Given the description of an element on the screen output the (x, y) to click on. 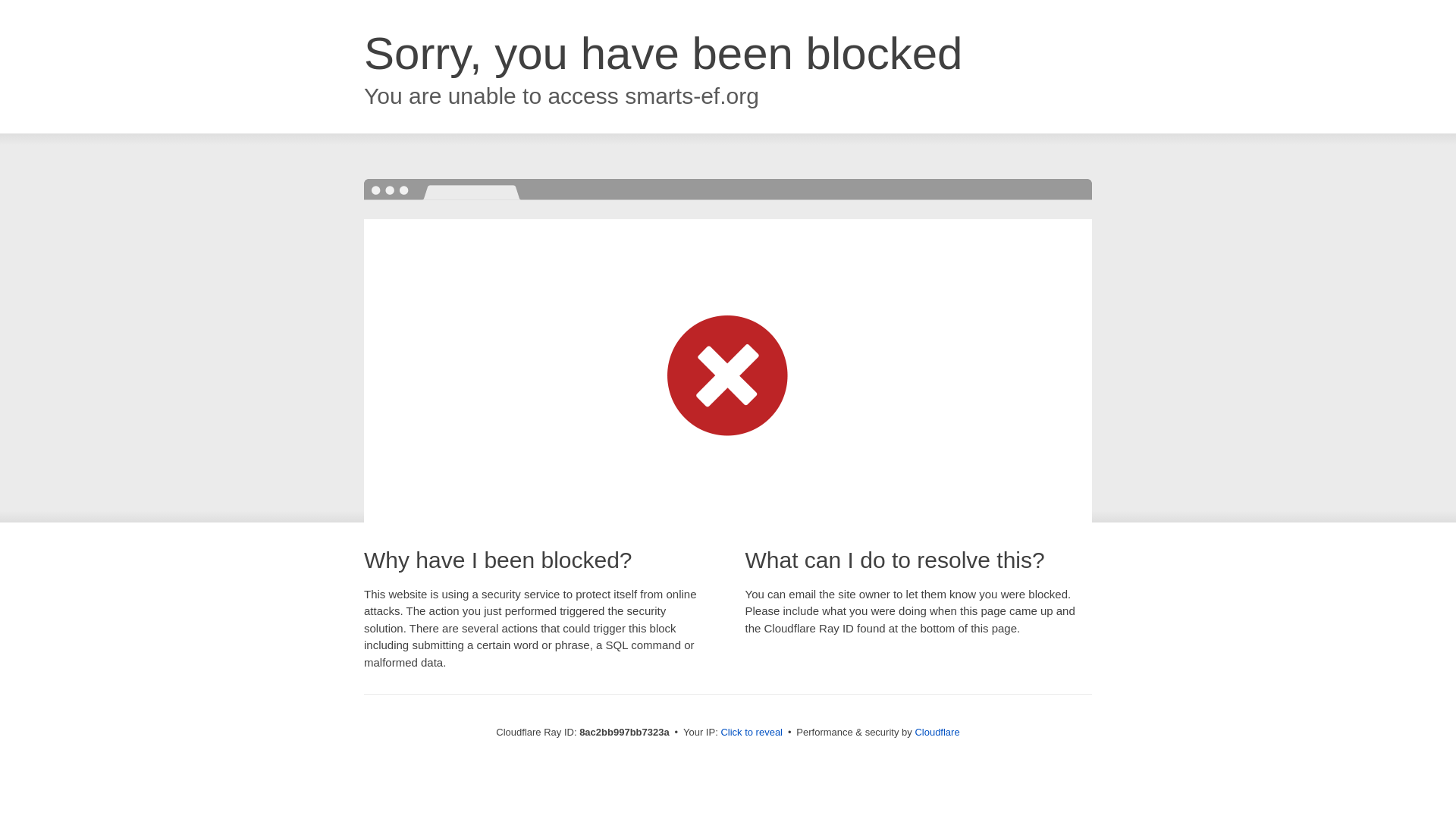
Click to reveal (751, 732)
Cloudflare (936, 731)
